Given the description of an element on the screen output the (x, y) to click on. 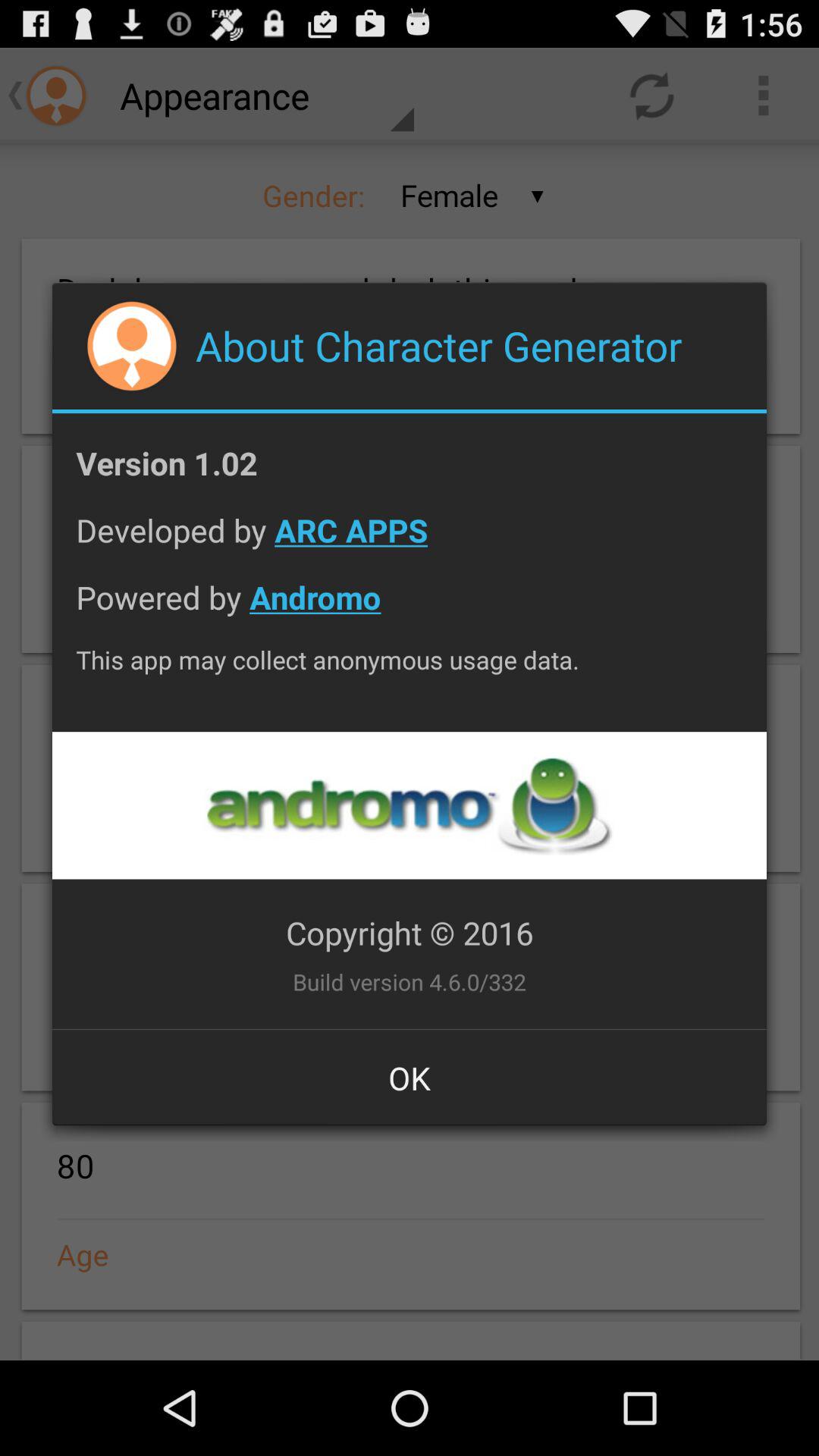
go to andromo page (408, 805)
